Given the description of an element on the screen output the (x, y) to click on. 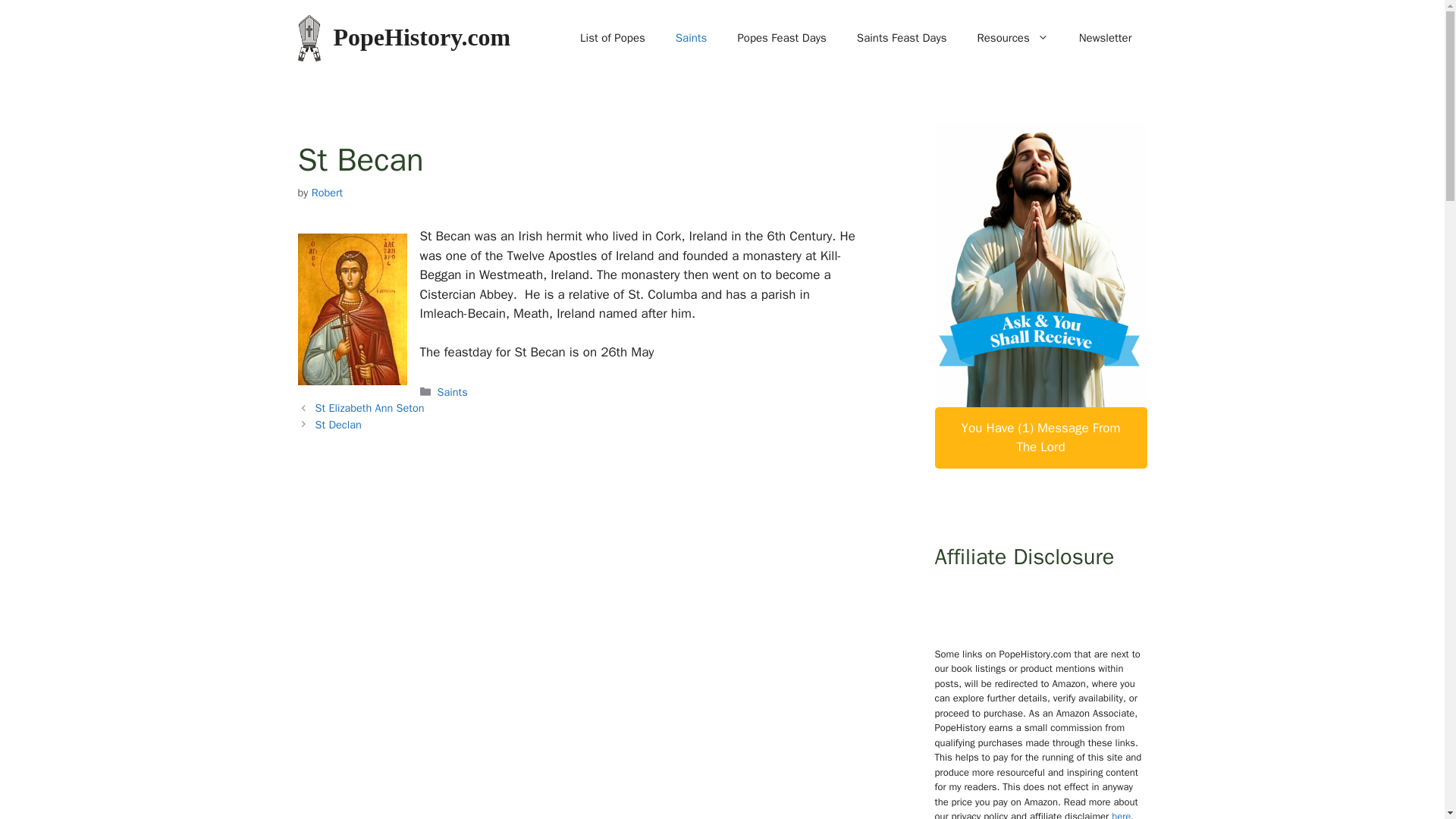
Resources (1011, 37)
Newsletter (1105, 37)
here (1121, 814)
List of Popes (612, 37)
Robert (327, 192)
St Elizabeth Ann Seton (370, 407)
Saints (691, 37)
PopeHistory.com (422, 36)
St Declan (338, 424)
Saints Feast Days (901, 37)
